Given the description of an element on the screen output the (x, y) to click on. 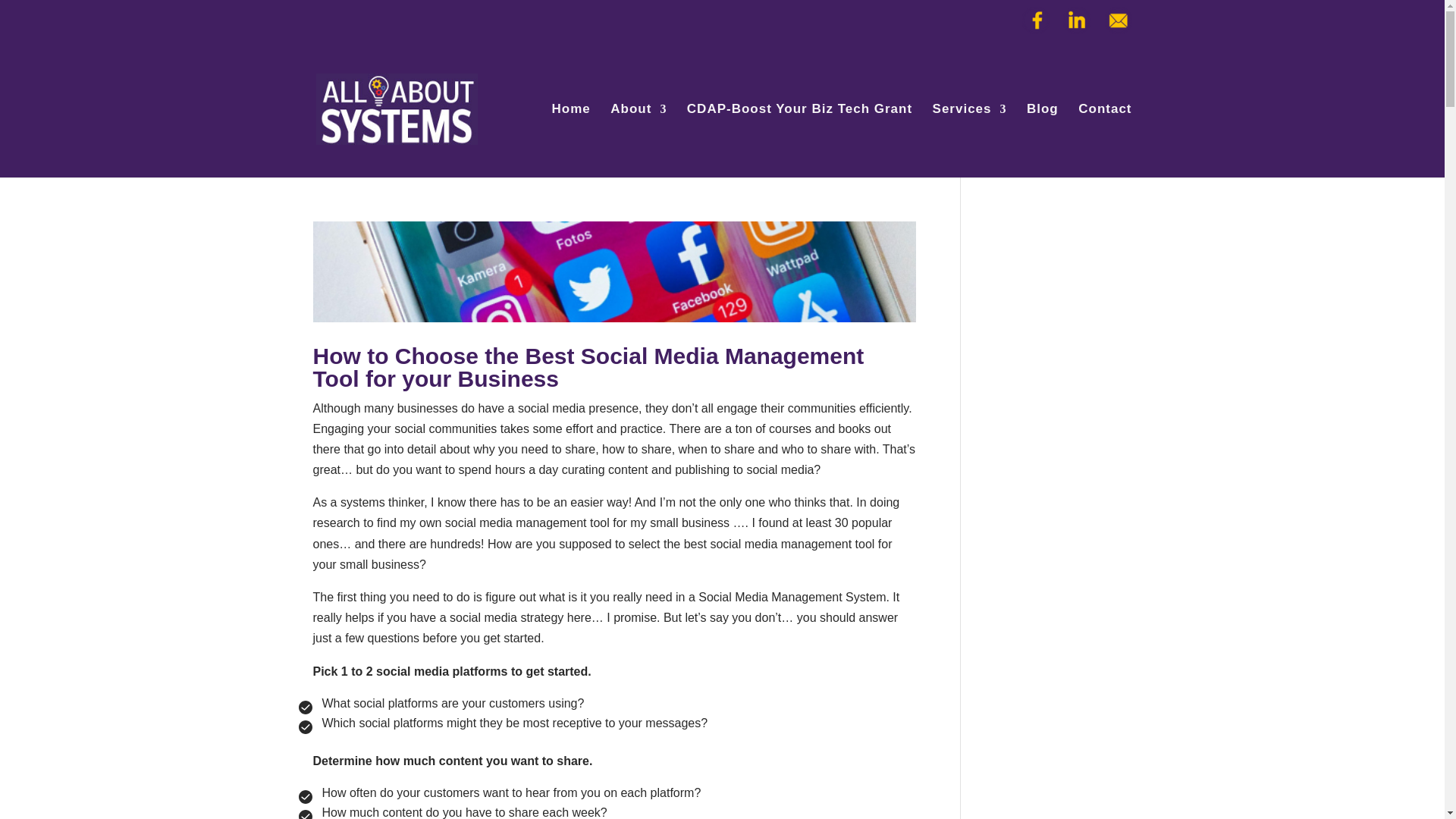
CDAP-Boost Your Biz Tech Grant (799, 140)
Services (970, 140)
